Given the description of an element on the screen output the (x, y) to click on. 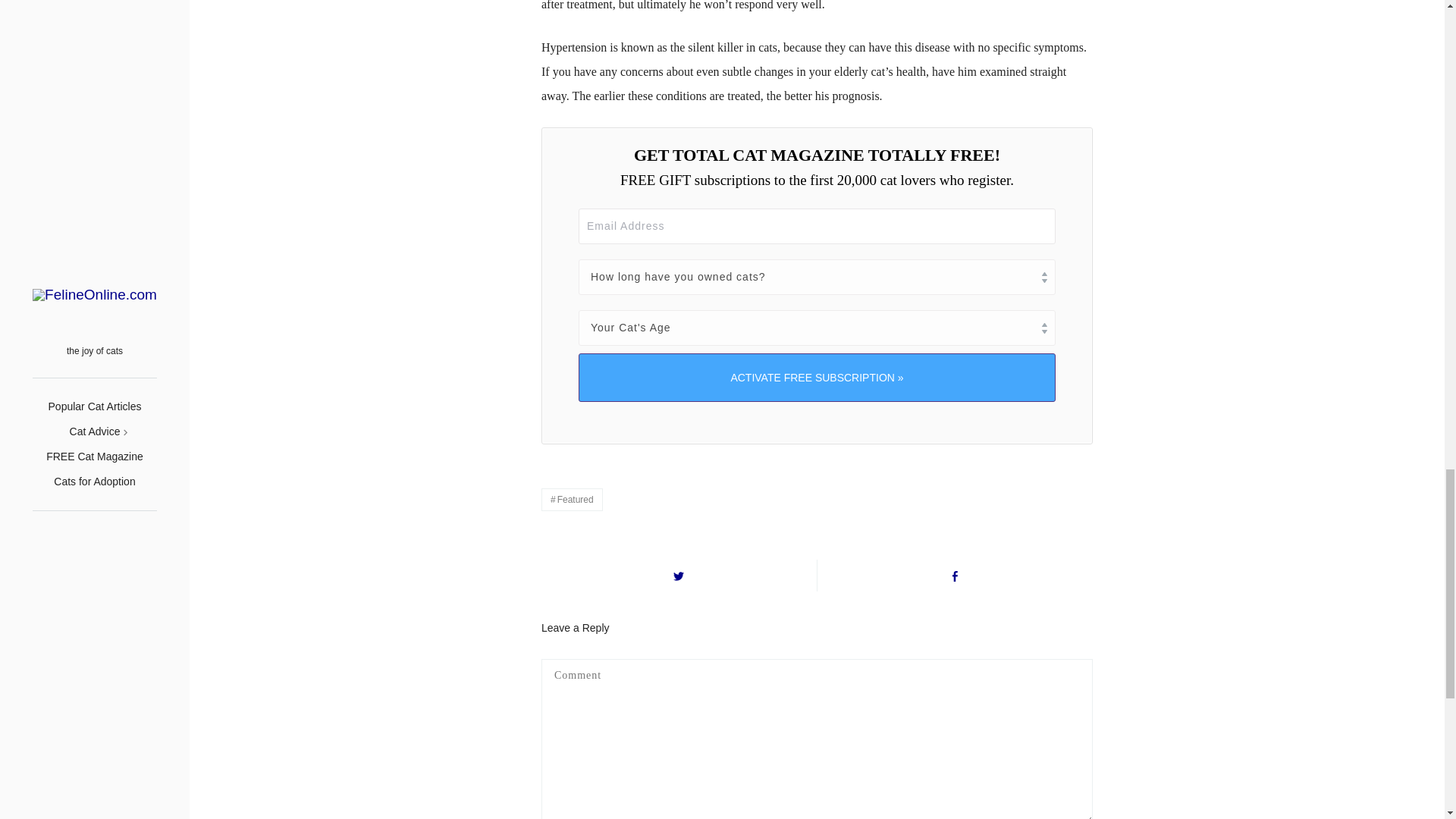
Share on Twitter (678, 575)
Share on Facebook (954, 575)
Featured (571, 499)
